Given the description of an element on the screen output the (x, y) to click on. 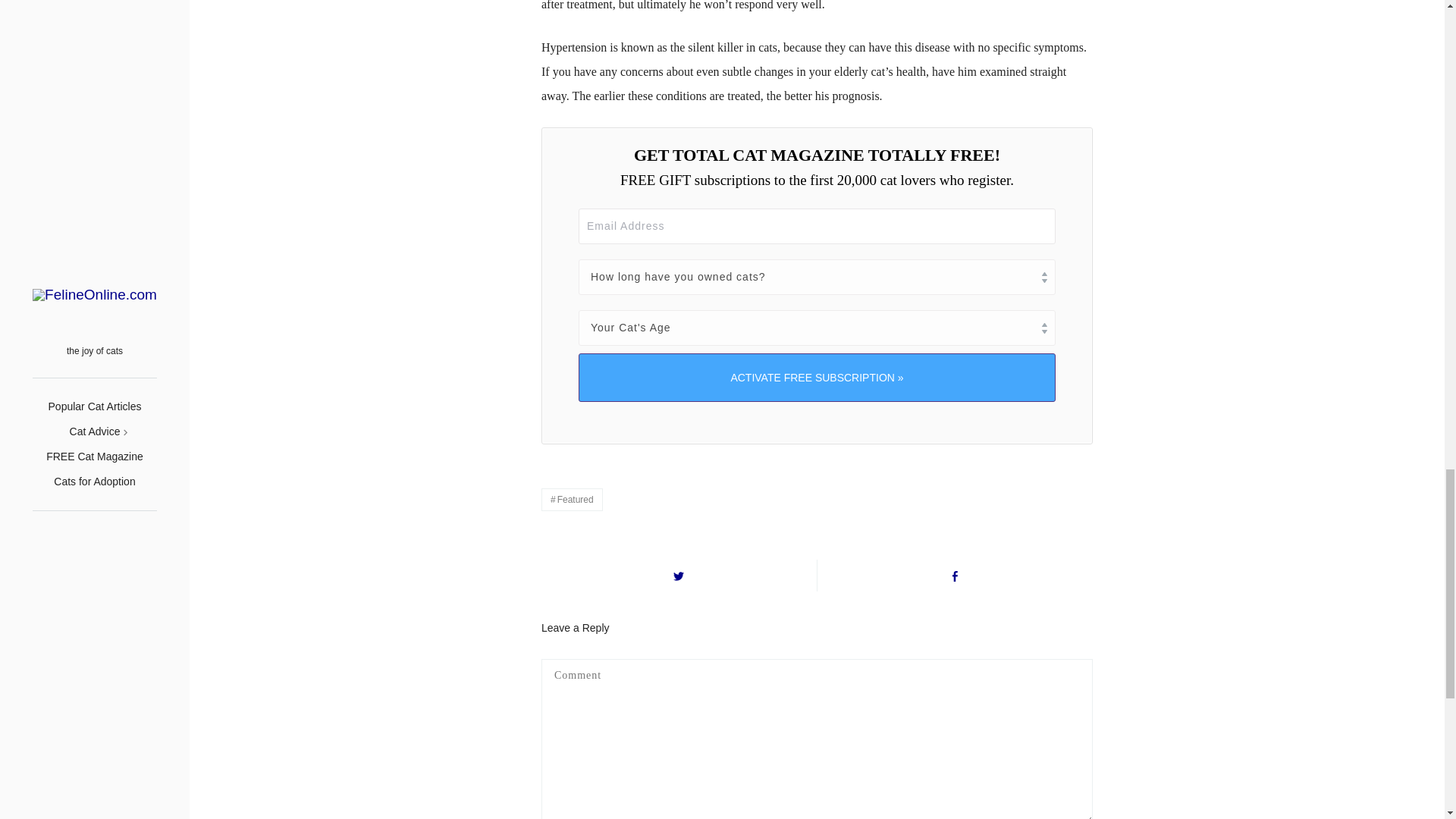
Share on Twitter (678, 575)
Share on Facebook (954, 575)
Featured (571, 499)
